Given the description of an element on the screen output the (x, y) to click on. 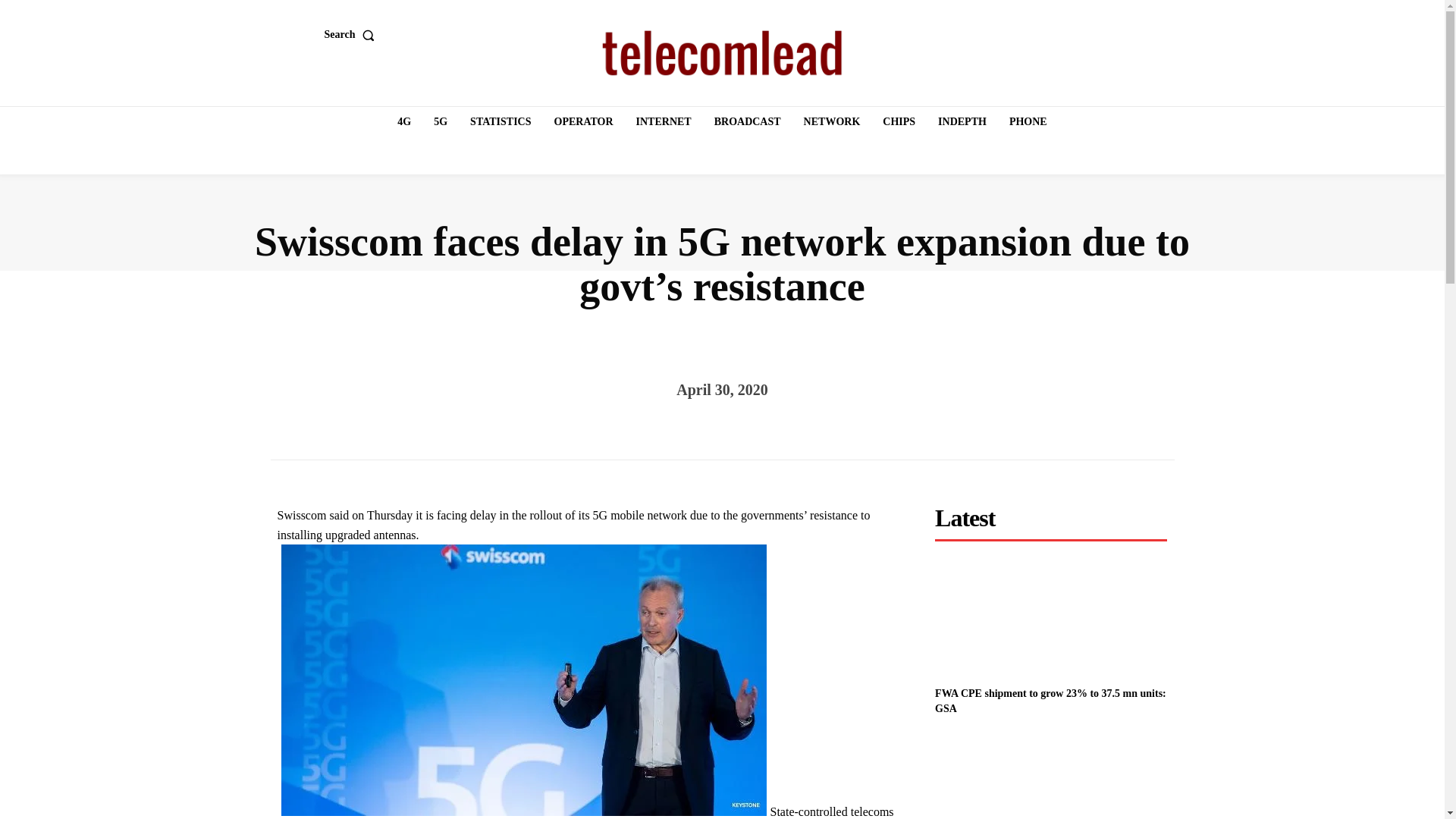
INDEPTH (962, 122)
5G (440, 122)
BROADCAST (747, 122)
NETWORK (831, 122)
PHONE (1027, 122)
INTERNET (663, 122)
Search (352, 34)
4G (404, 122)
tl (722, 53)
Airtel achieves 5G uplink speed of 300 Mbps (1050, 777)
